Given the description of an element on the screen output the (x, y) to click on. 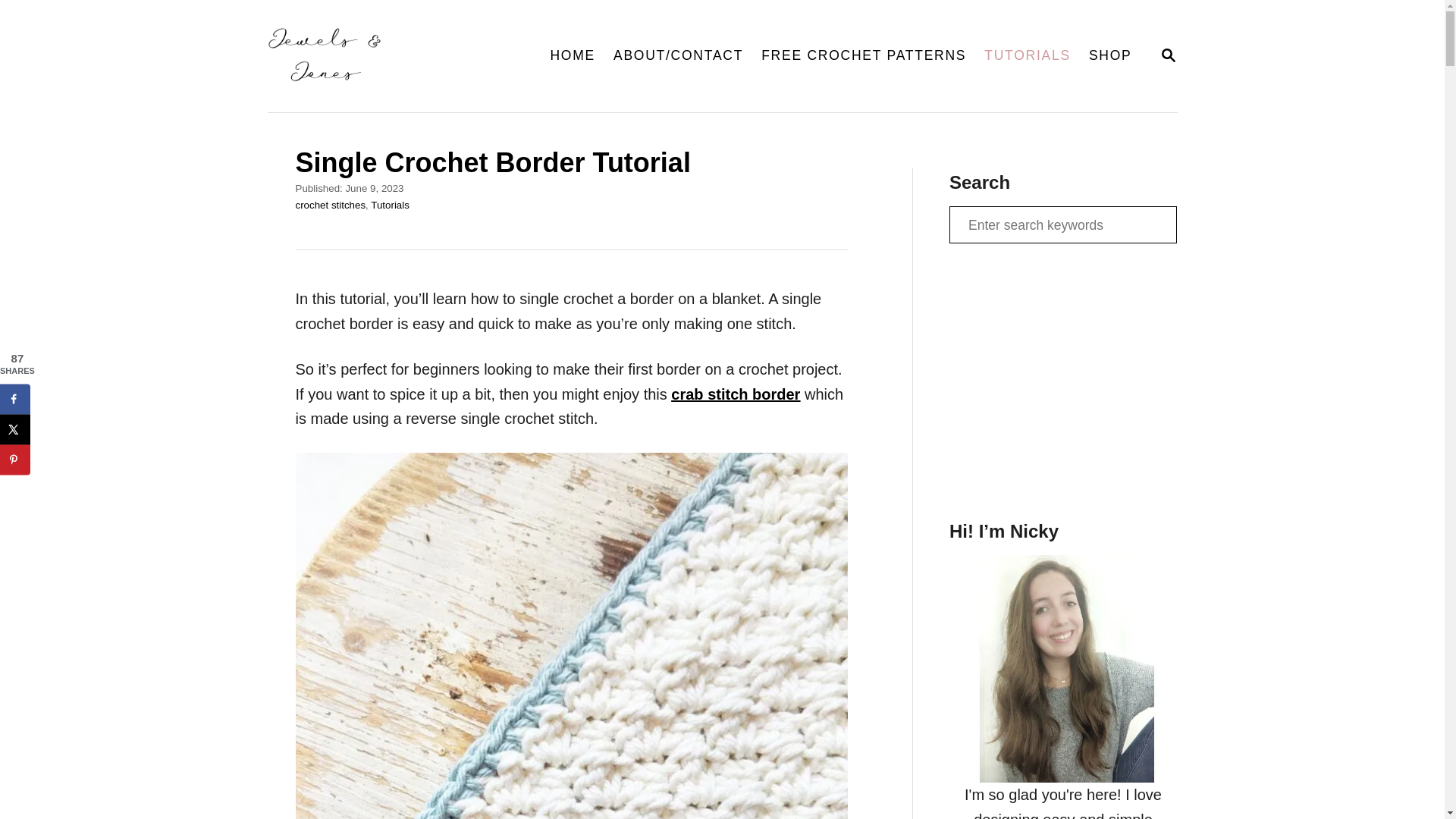
Share on Facebook (15, 399)
Share on X (15, 429)
HOME (572, 55)
crochet stitches (330, 204)
MAGNIFYING GLASS (1167, 54)
Search for: (1062, 224)
Save to Pinterest (15, 459)
SHOP (1110, 55)
FREE CROCHET PATTERNS (863, 55)
TUTORIALS (1027, 55)
Jewels and Jones (391, 56)
Tutorials (1168, 55)
crab stitch border (390, 204)
